Given the description of an element on the screen output the (x, y) to click on. 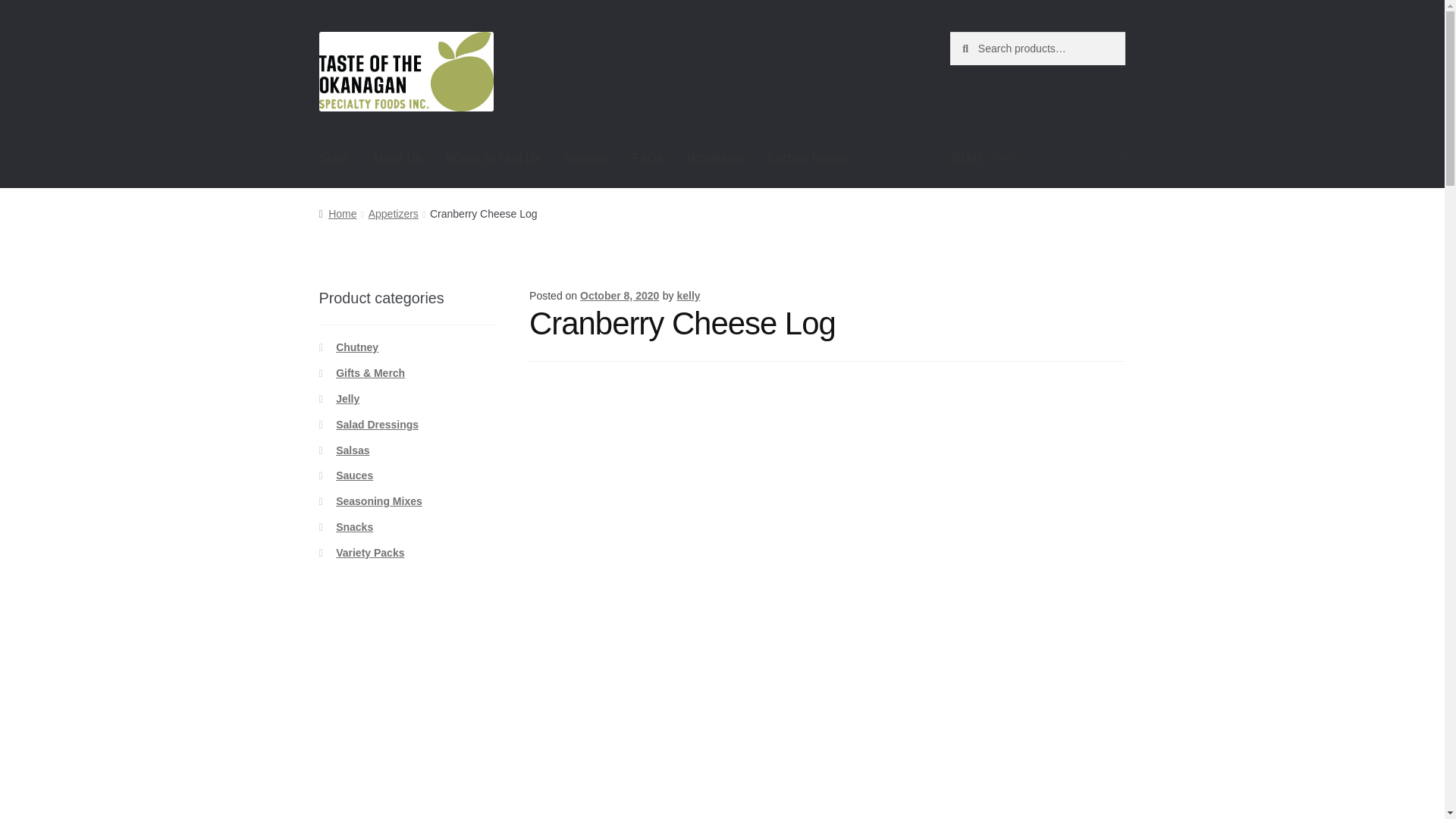
About Us (396, 158)
Recipes (585, 158)
Wholesale (715, 158)
October 8, 2020 (619, 295)
Kitchen Rental (807, 158)
Appetizers (393, 214)
Home (337, 214)
View your shopping cart (1037, 158)
kelly (688, 295)
